Given the description of an element on the screen output the (x, y) to click on. 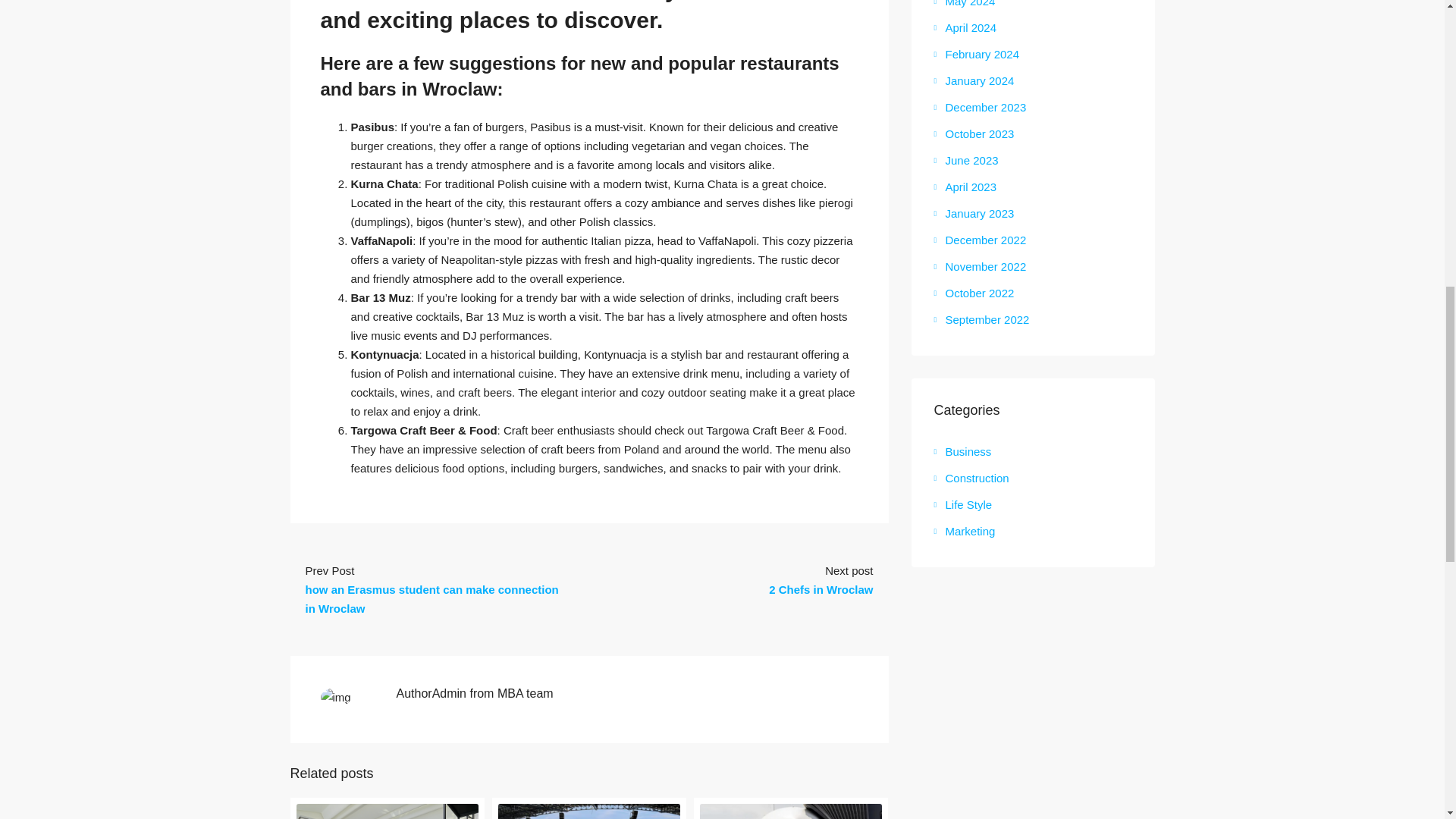
how an Erasmus student can make connection in Wroclaw (430, 599)
2 Chefs in Wroclaw (820, 589)
Buckle up, jet-setters! Starting 2024 (791, 811)
